Given the description of an element on the screen output the (x, y) to click on. 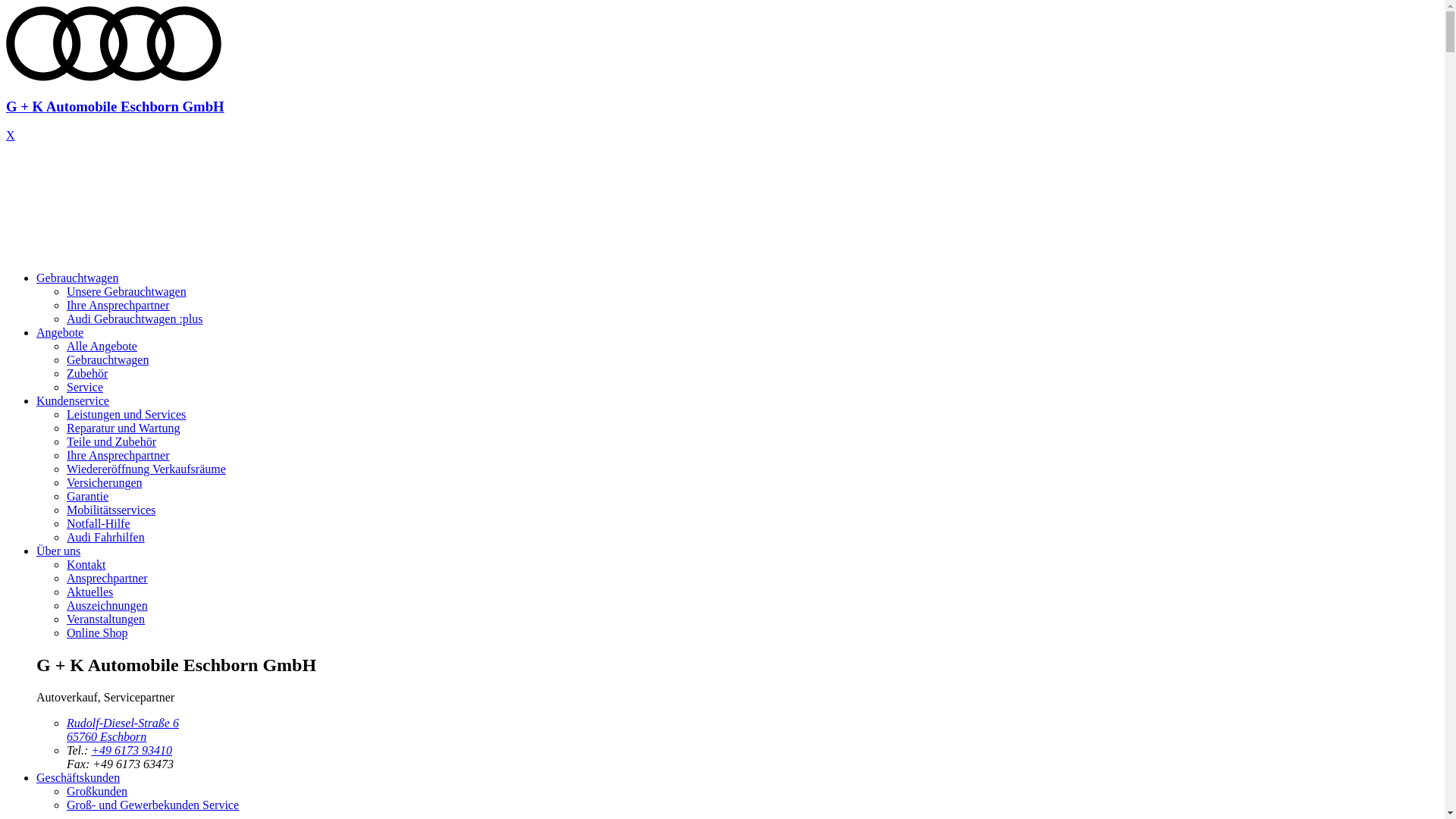
Gebrauchtwagen Element type: text (107, 359)
+49 6173 93410 Element type: text (131, 749)
Notfall-Hilfe Element type: text (98, 523)
Angebote Element type: text (59, 332)
Versicherungen Element type: text (104, 482)
Aktuelles Element type: text (89, 591)
Unsere Gebrauchtwagen Element type: text (126, 291)
Ihre Ansprechpartner Element type: text (117, 304)
Audi Fahrhilfen Element type: text (105, 536)
Service Element type: text (84, 386)
Online Shop Element type: text (96, 632)
Audi Gebrauchtwagen :plus Element type: text (134, 318)
Leistungen und Services Element type: text (125, 413)
Reparatur und Wartung Element type: text (122, 427)
Garantie Element type: text (87, 495)
G + K Automobile Eschborn GmbH Element type: text (722, 92)
Ihre Ansprechpartner Element type: text (117, 454)
Kontakt Element type: text (86, 564)
Gebrauchtwagen Element type: text (77, 277)
Alle Angebote Element type: text (101, 345)
Ansprechpartner Element type: text (106, 577)
Auszeichnungen Element type: text (106, 605)
X Element type: text (10, 134)
Kundenservice Element type: text (72, 400)
Veranstaltungen Element type: text (105, 618)
